Given the description of an element on the screen output the (x, y) to click on. 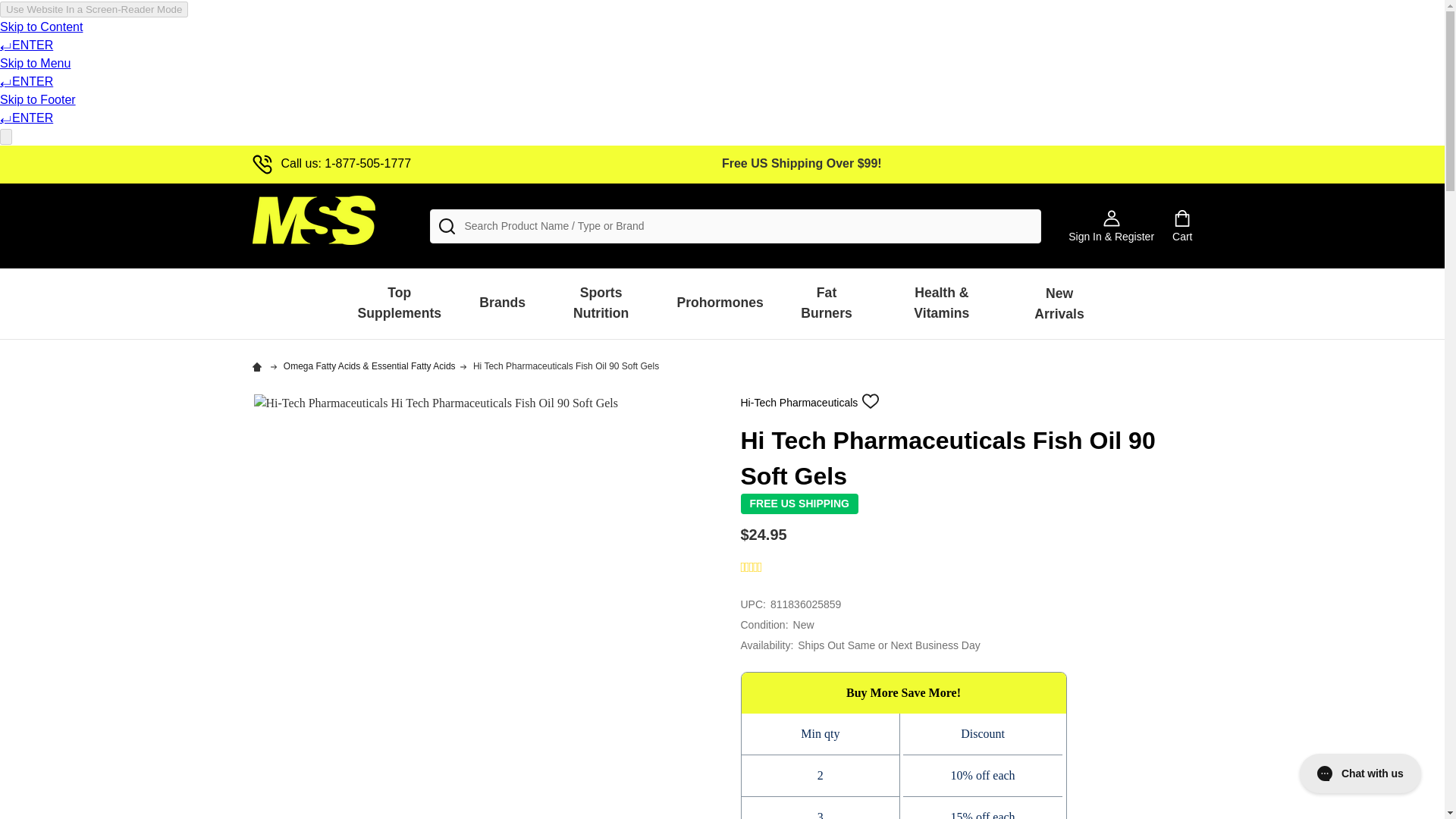
My Supplement Store (312, 219)
Brands (502, 302)
Sports Nutrition (601, 302)
Top Supplements (398, 302)
Brands (502, 302)
Call us: 1-877-505-1777 (330, 163)
Top Supplements (398, 302)
